Given the description of an element on the screen output the (x, y) to click on. 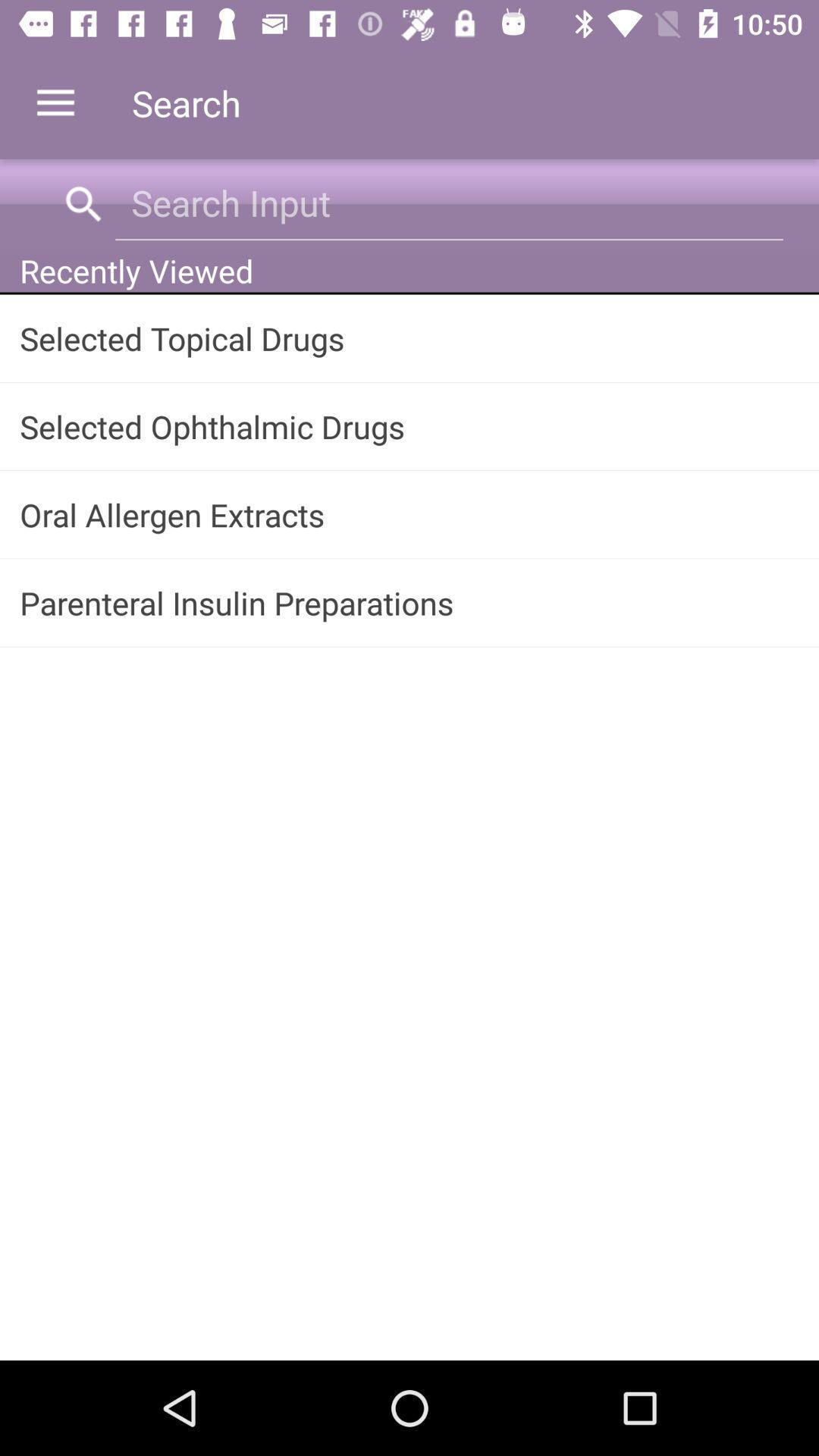
press item above the recently viewed (449, 202)
